Given the description of an element on the screen output the (x, y) to click on. 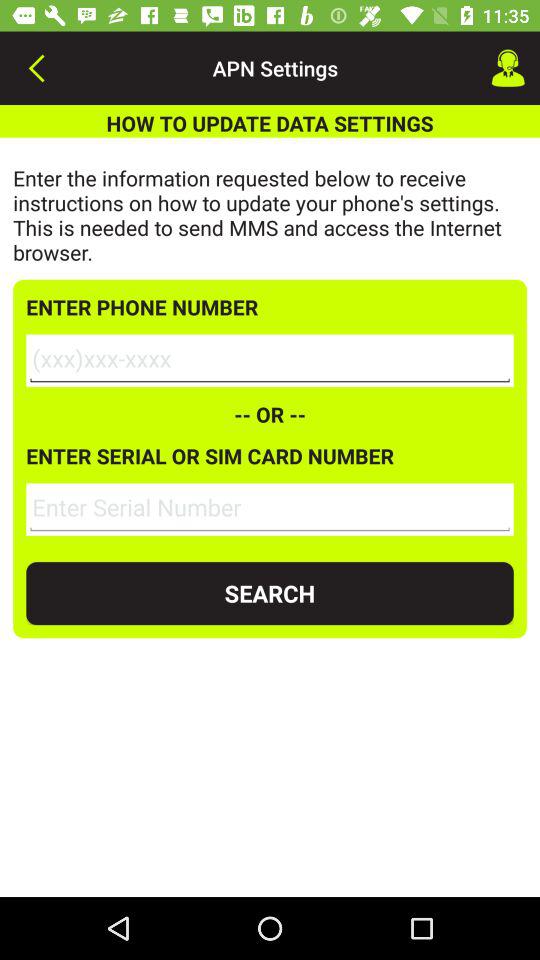
launch the item next to apn settings item (508, 67)
